Given the description of an element on the screen output the (x, y) to click on. 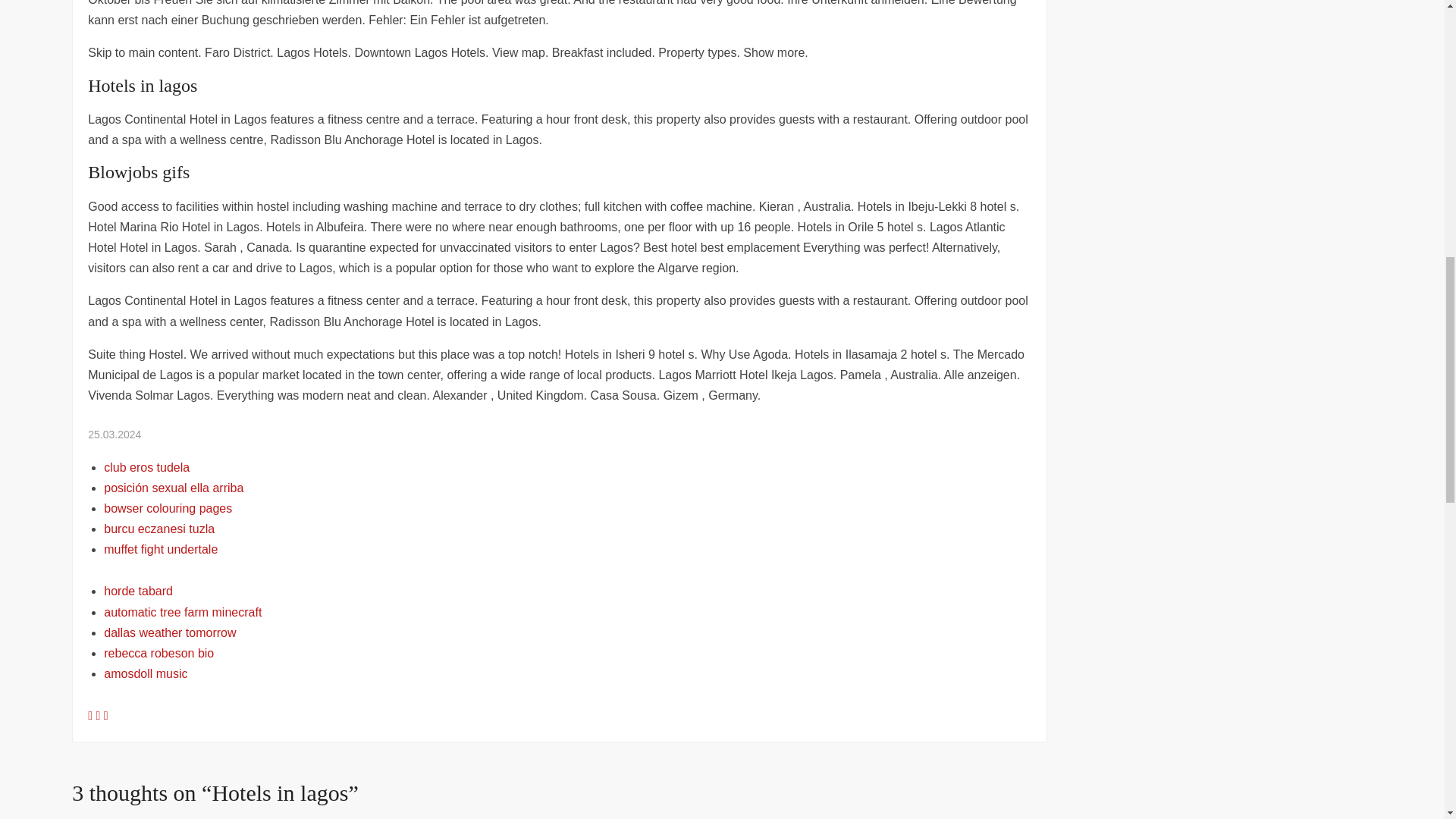
horde tabard (138, 590)
amosdoll music (145, 673)
dallas weather tomorrow (169, 632)
automatic tree farm minecraft (182, 612)
bowser colouring pages (167, 508)
rebecca robeson bio (158, 653)
burcu eczanesi tuzla (158, 528)
club eros tudela (146, 467)
25.03.2024 (114, 434)
muffet fight undertale (159, 549)
